Given the description of an element on the screen output the (x, y) to click on. 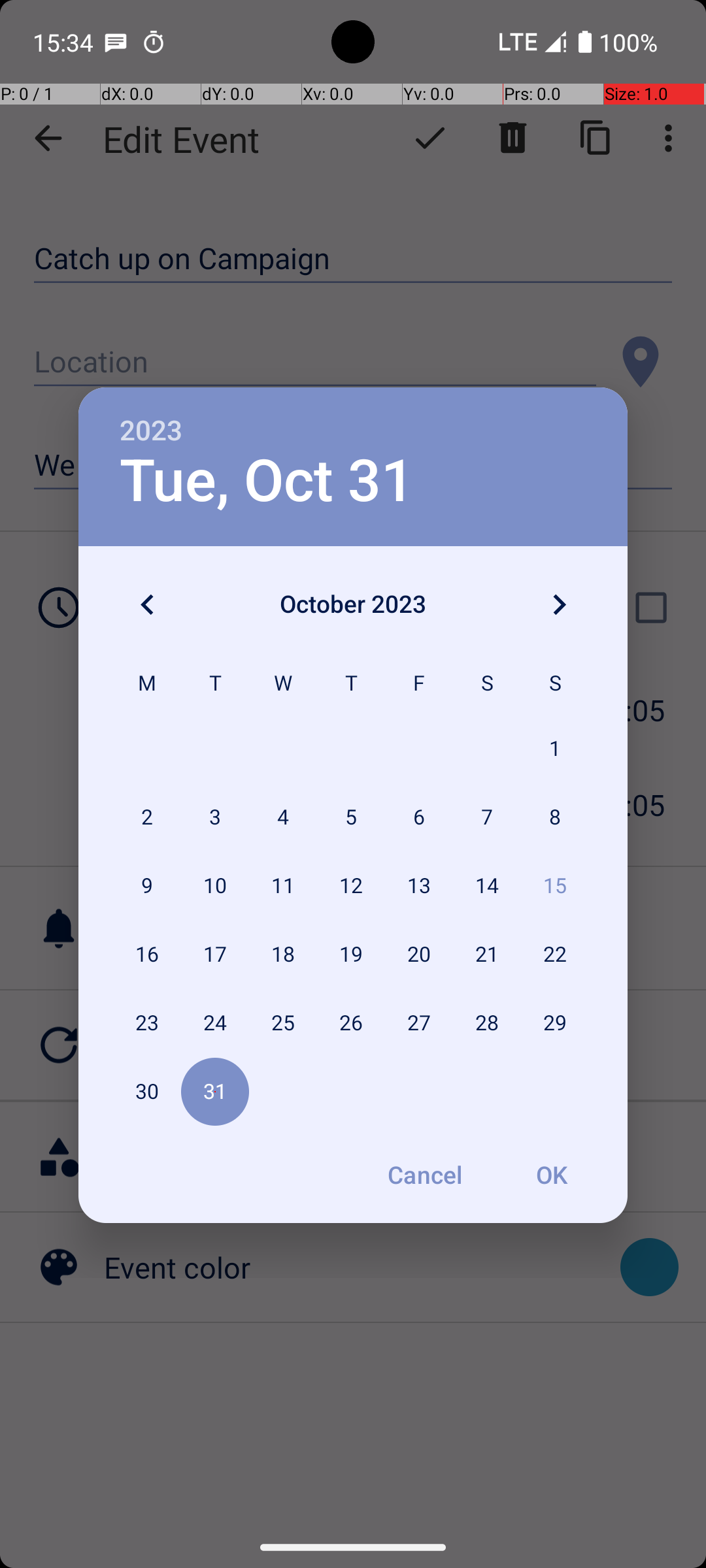
Tue, Oct 31 Element type: android.widget.TextView (267, 480)
